Given the description of an element on the screen output the (x, y) to click on. 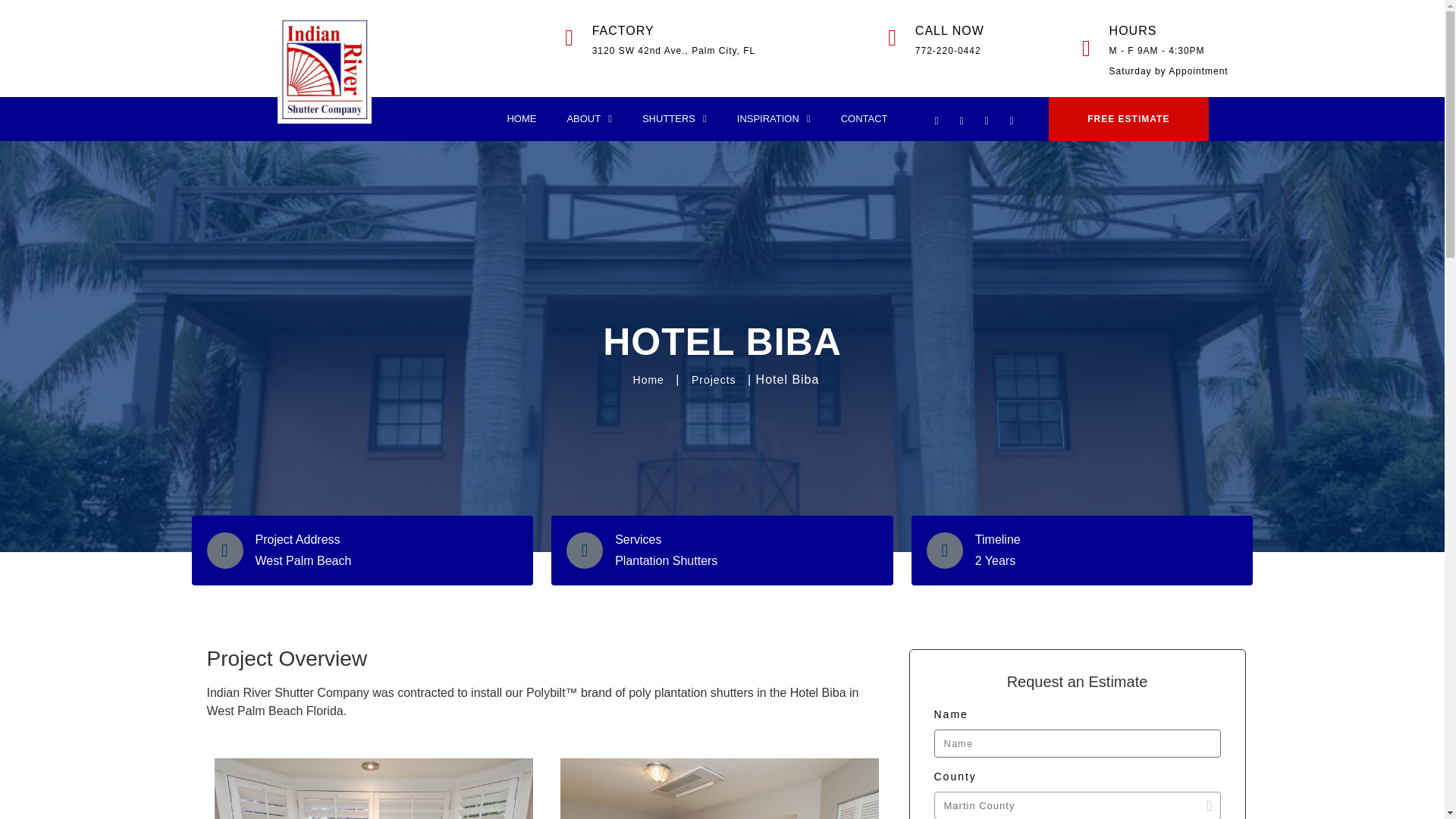
ABOUT (589, 118)
SHUTTERS (674, 118)
HOME (521, 118)
CONTACT (863, 118)
INSPIRATION (773, 118)
